Given the description of an element on the screen output the (x, y) to click on. 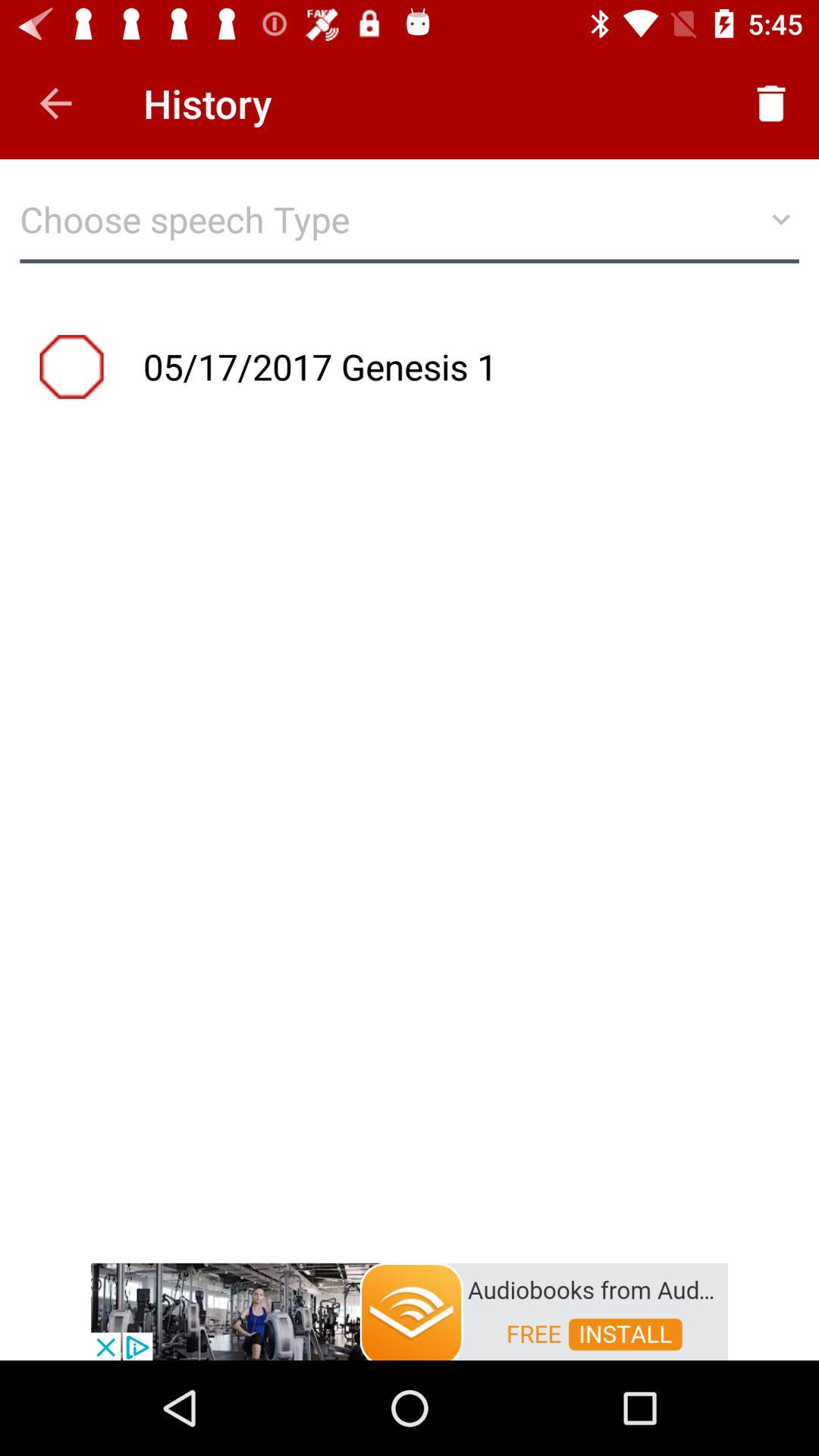
come back (55, 103)
